Given the description of an element on the screen output the (x, y) to click on. 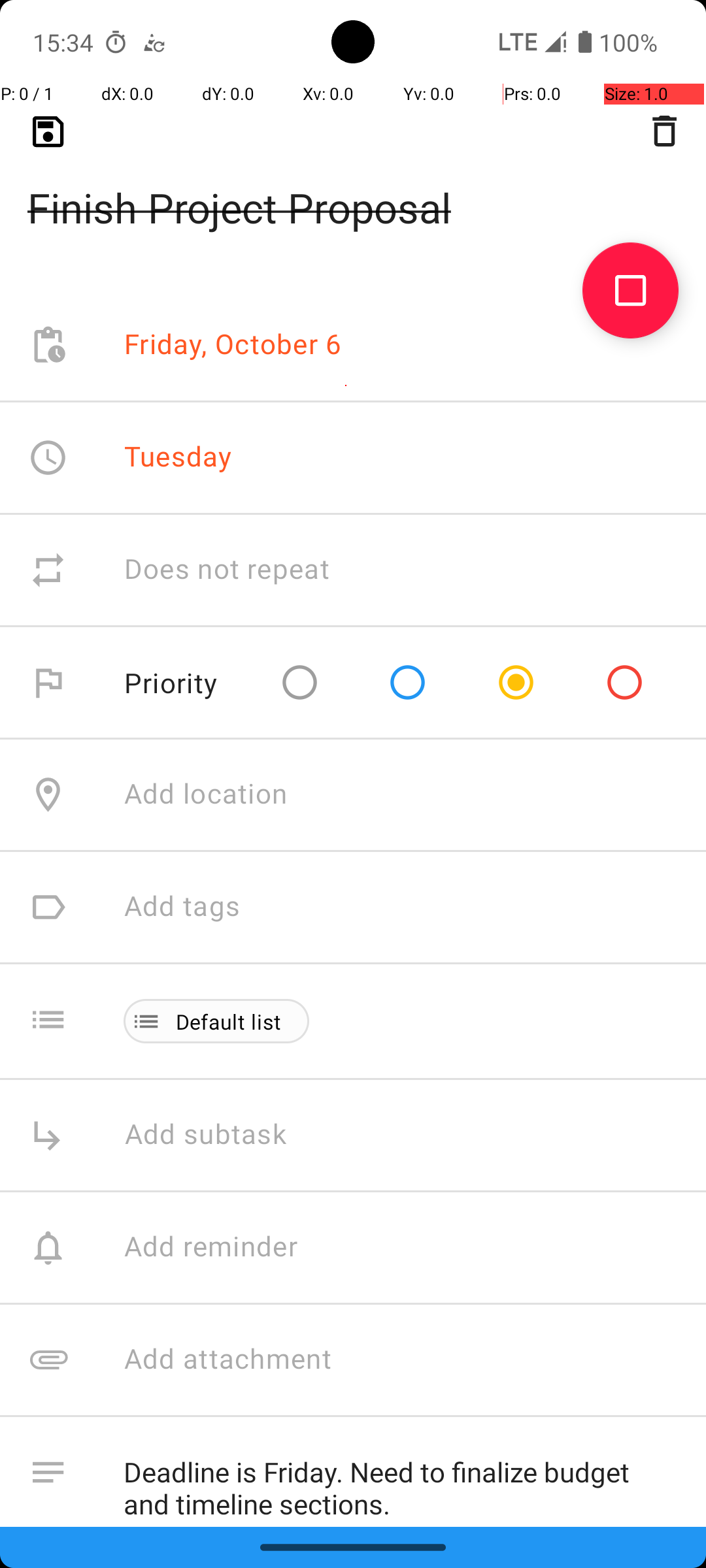
Friday, October 6 Element type: android.widget.TextView (232, 344)
